Given the description of an element on the screen output the (x, y) to click on. 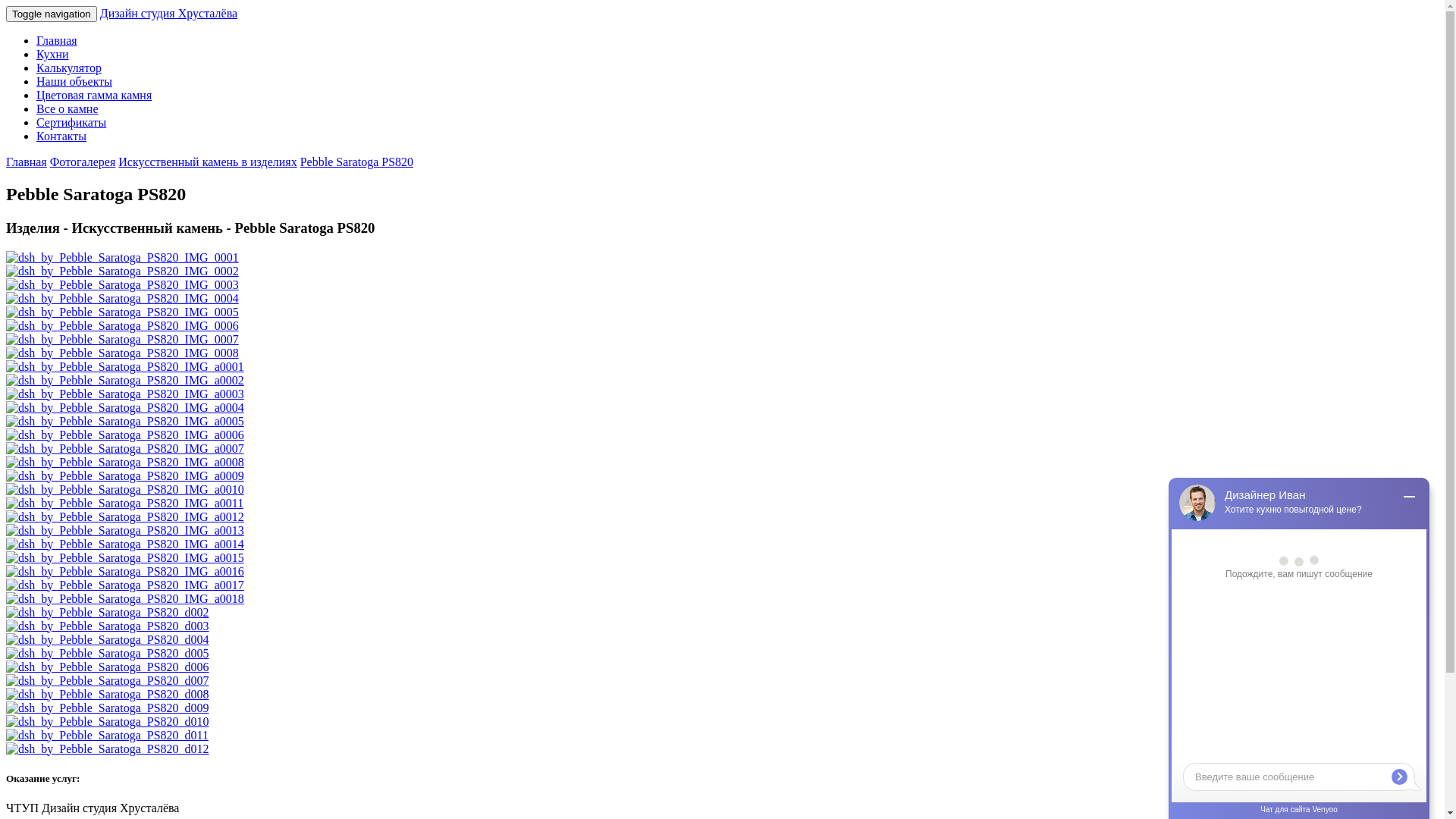
dsh_by_Pebble_Saratoga_PS820_IMG_0002 Element type: hover (122, 271)
dsh_by_Pebble_Saratoga_PS820_IMG_a0008 Element type: hover (125, 462)
  Element type: hover (125, 379)
dsh_by_Pebble_Saratoga_PS820_IMG_a0014 Element type: hover (125, 544)
dsh_by_Pebble_Saratoga_PS820_IMG_0007 Element type: hover (122, 339)
  Element type: hover (125, 570)
dsh_by_Pebble_Saratoga_PS820_IMG_a0018 Element type: hover (125, 598)
dsh_by_Pebble_Saratoga_PS820_IMG_0001 Element type: hover (122, 257)
Pebble Saratoga PS820 Element type: text (356, 161)
  Element type: hover (122, 338)
  Element type: hover (122, 297)
dsh_by_Pebble_Saratoga_PS820_d006 Element type: hover (107, 667)
  Element type: hover (107, 625)
  Element type: hover (122, 325)
dsh_by_Pebble_Saratoga_PS820_d003 Element type: hover (107, 626)
  Element type: hover (107, 639)
dsh_by_Pebble_Saratoga_PS820_IMG_a0006 Element type: hover (125, 435)
  Element type: hover (124, 502)
  Element type: hover (125, 407)
  Element type: hover (107, 680)
dsh_by_Pebble_Saratoga_PS820_d004 Element type: hover (107, 639)
dsh_by_Pebble_Saratoga_PS820_IMG_a0017 Element type: hover (125, 585)
dsh_by_Pebble_Saratoga_PS820_d012 Element type: hover (107, 749)
  Element type: hover (107, 666)
  Element type: hover (125, 448)
  Element type: hover (107, 748)
dsh_by_Pebble_Saratoga_PS820_IMG_a0010 Element type: hover (125, 489)
dsh_by_Pebble_Saratoga_PS820_IMG_a0013 Element type: hover (125, 530)
dsh_by_Pebble_Saratoga_PS820_d007 Element type: hover (107, 680)
  Element type: hover (125, 530)
dsh_by_Pebble_Saratoga_PS820_IMG_0005 Element type: hover (122, 312)
  Element type: hover (125, 598)
dsh_by_Pebble_Saratoga_PS820_d009 Element type: hover (107, 708)
dsh_by_Pebble_Saratoga_PS820_IMG_a0001 Element type: hover (125, 366)
dsh_by_Pebble_Saratoga_PS820_d005 Element type: hover (107, 653)
dsh_by_Pebble_Saratoga_PS820_IMG_0004 Element type: hover (122, 298)
  Element type: hover (122, 284)
  Element type: hover (107, 611)
  Element type: hover (125, 475)
  Element type: hover (122, 311)
  Element type: hover (122, 270)
  Element type: hover (125, 557)
  Element type: hover (107, 707)
  Element type: hover (125, 584)
Toggle navigation Element type: text (51, 13)
  Element type: hover (125, 489)
dsh_by_Pebble_Saratoga_PS820_IMG_a0012 Element type: hover (125, 517)
  Element type: hover (125, 366)
dsh_by_Pebble_Saratoga_PS820_d008 Element type: hover (107, 694)
  Element type: hover (125, 393)
  Element type: hover (122, 257)
dsh_by_Pebble_Saratoga_PS820_IMG_a0015 Element type: hover (125, 557)
  Element type: hover (125, 420)
dsh_by_Pebble_Saratoga_PS820_IMG_a0016 Element type: hover (125, 571)
  Element type: hover (125, 516)
dsh_by_Pebble_Saratoga_PS820_d002 Element type: hover (107, 612)
  Element type: hover (107, 652)
dsh_by_Pebble_Saratoga_PS820_IMG_0003 Element type: hover (122, 284)
  Element type: hover (122, 352)
dsh_by_Pebble_Saratoga_PS820_IMG_a0004 Element type: hover (125, 407)
dsh_by_Pebble_Saratoga_PS820_IMG_a0005 Element type: hover (125, 421)
dsh_by_Pebble_Saratoga_PS820_IMG_0008 Element type: hover (122, 353)
  Element type: hover (107, 693)
dsh_by_Pebble_Saratoga_PS820_IMG_a0003 Element type: hover (125, 394)
  Element type: hover (107, 721)
  Element type: hover (125, 434)
dsh_by_Pebble_Saratoga_PS820_IMG_a0011 Element type: hover (124, 503)
  Element type: hover (107, 734)
  Element type: hover (125, 543)
dsh_by_Pebble_Saratoga_PS820_IMG_a0009 Element type: hover (125, 476)
dsh_by_Pebble_Saratoga_PS820_IMG_a0002 Element type: hover (125, 380)
dsh_by_Pebble_Saratoga_PS820_IMG_0006 Element type: hover (122, 325)
dsh_by_Pebble_Saratoga_PS820_d010 Element type: hover (107, 721)
  Element type: hover (125, 461)
dsh_by_Pebble_Saratoga_PS820_d011 Element type: hover (107, 735)
dsh_by_Pebble_Saratoga_PS820_IMG_a0007 Element type: hover (125, 448)
